Given the description of an element on the screen output the (x, y) to click on. 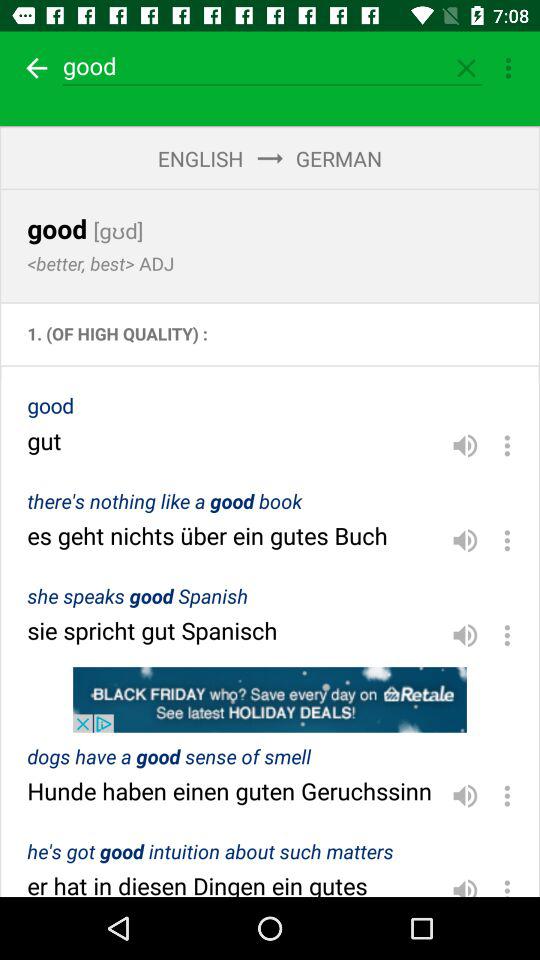
enter the setting box (508, 68)
